Given the description of an element on the screen output the (x, y) to click on. 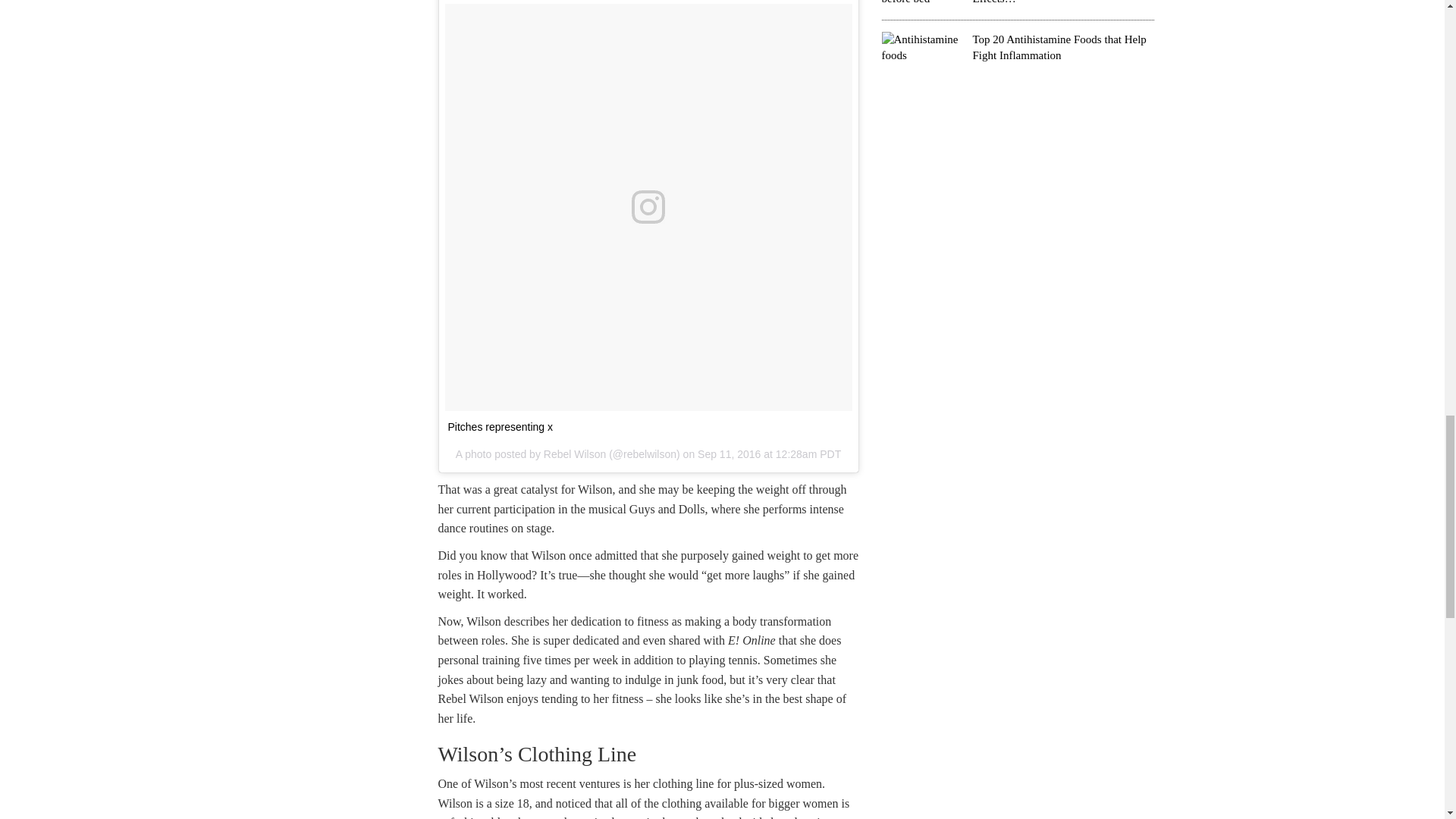
Pitches representing x (499, 426)
